Given the description of an element on the screen output the (x, y) to click on. 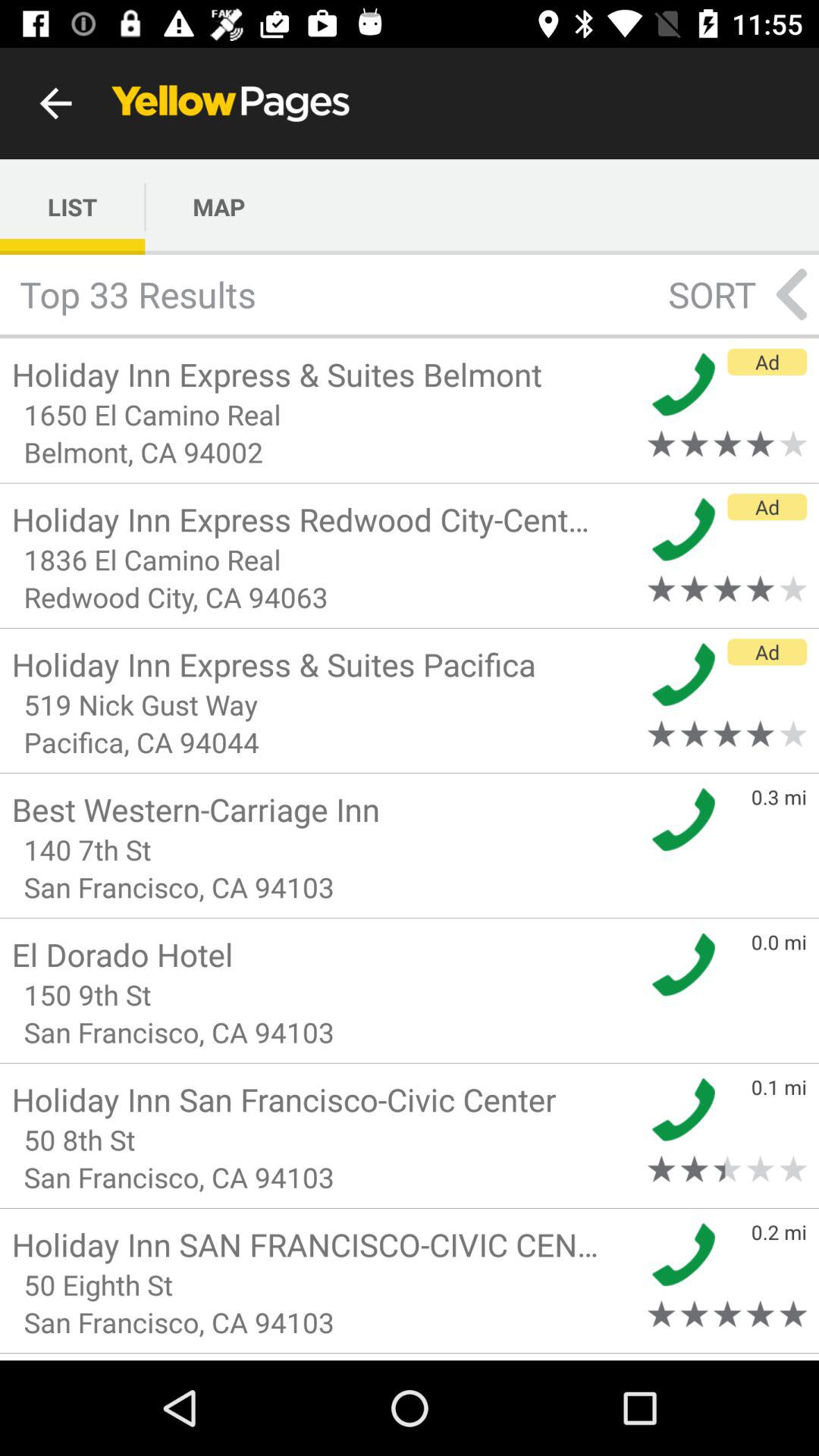
turn on the icon above the 150 9th st (324, 953)
